Given the description of an element on the screen output the (x, y) to click on. 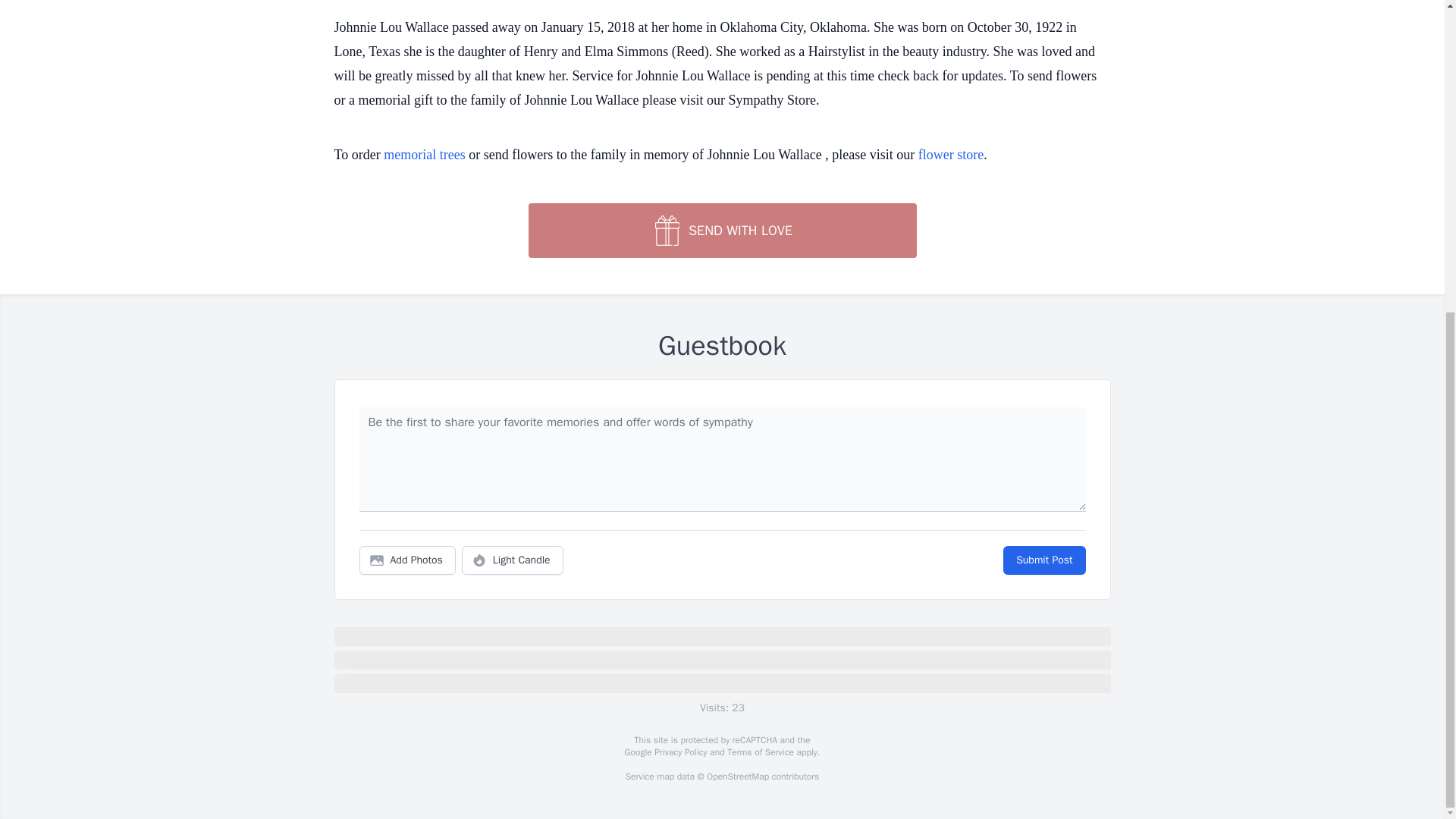
Light Candle (512, 560)
flower store (951, 154)
SEND WITH LOVE (721, 230)
OpenStreetMap (737, 776)
memorial trees (424, 154)
Submit Post (1043, 560)
Privacy Policy (679, 752)
Terms of Service (759, 752)
Add Photos (407, 560)
